Given the description of an element on the screen output the (x, y) to click on. 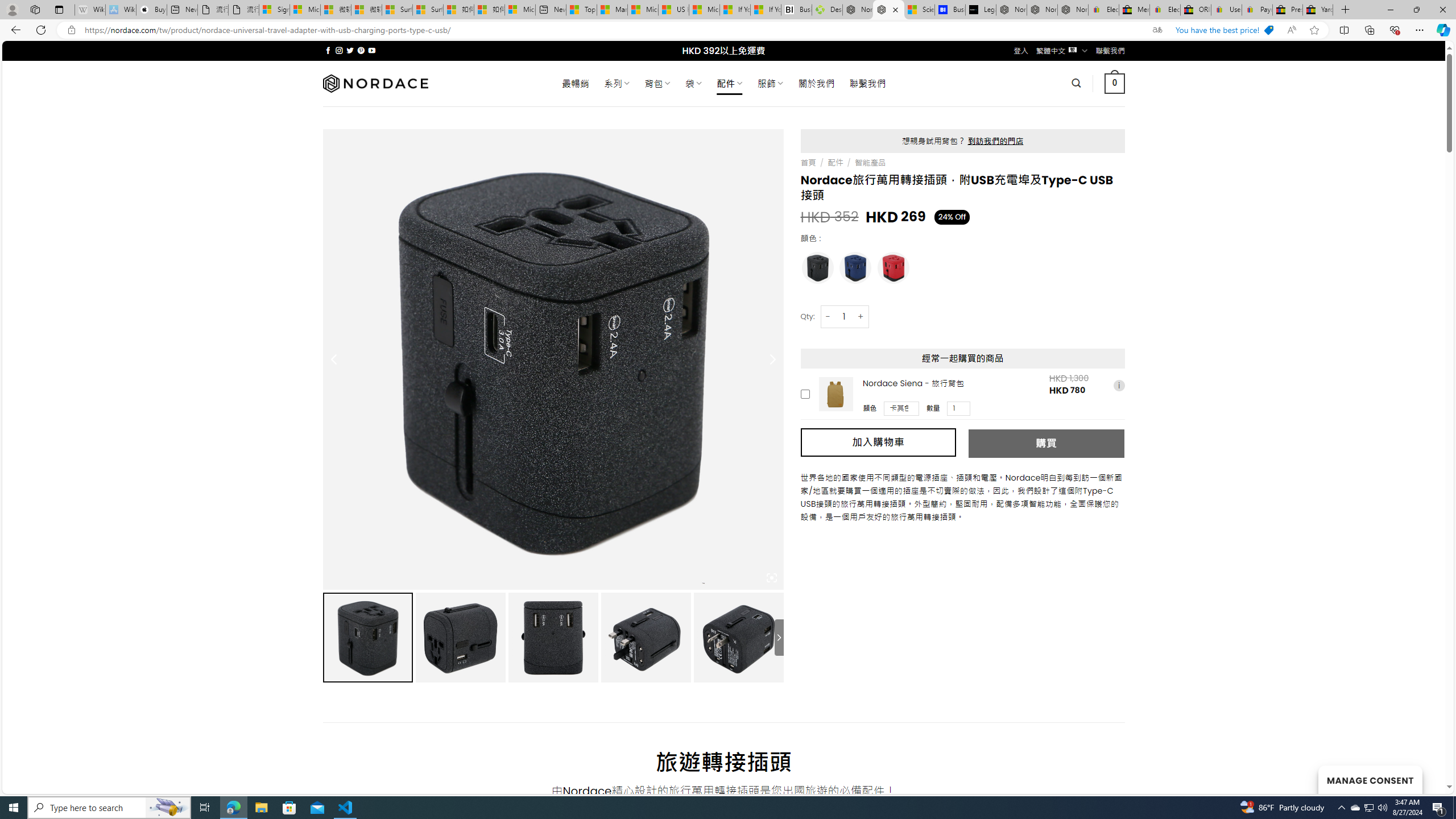
Follow on Twitter (349, 50)
Press Room - eBay Inc. (1287, 9)
- (827, 316)
